Given the description of an element on the screen output the (x, y) to click on. 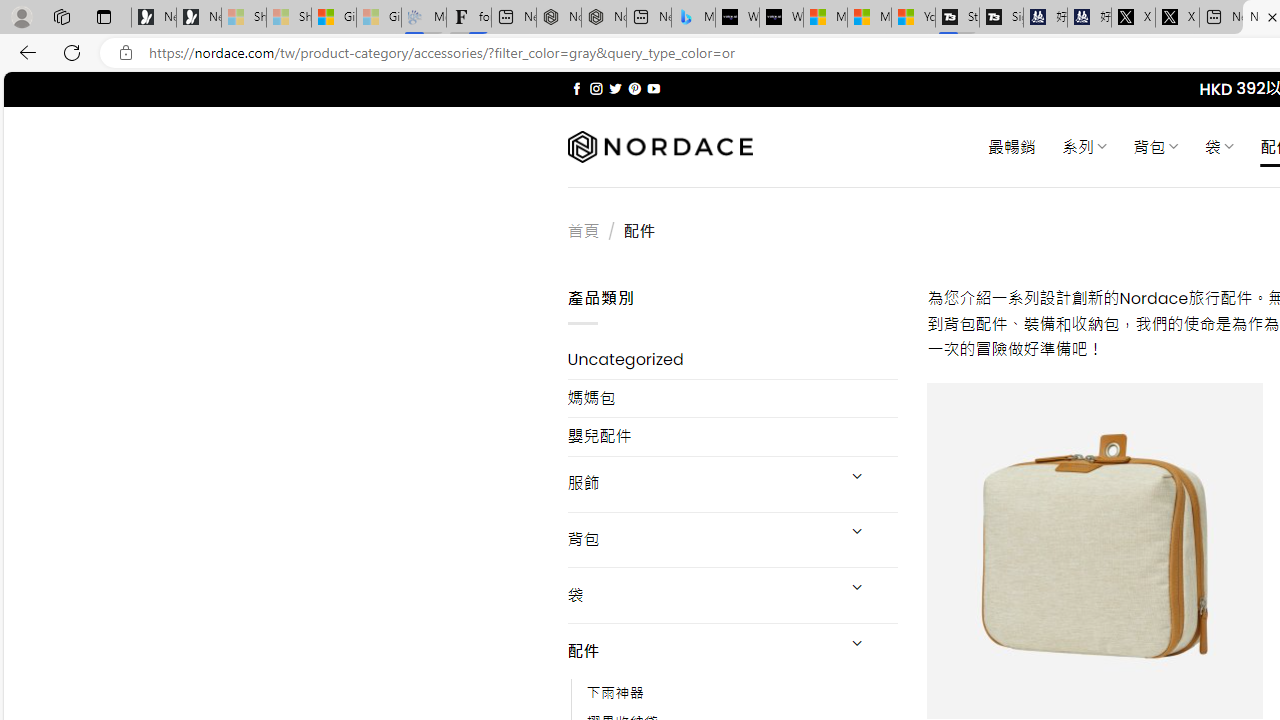
Microsoft Bing Travel - Shangri-La Hotel Bangkok (693, 17)
Newsletter Sign Up (198, 17)
Follow on YouTube (653, 88)
